Given the description of an element on the screen output the (x, y) to click on. 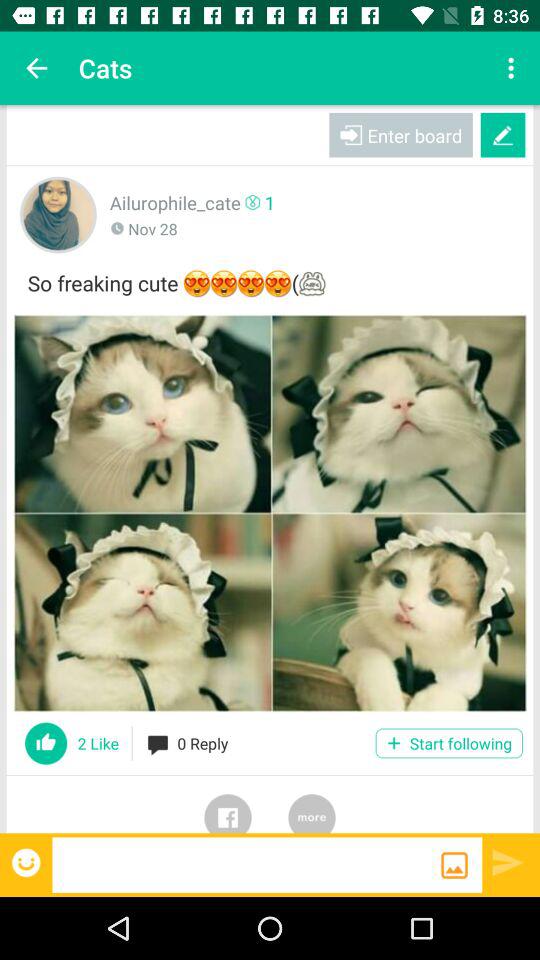
like the post (46, 743)
